Given the description of an element on the screen output the (x, y) to click on. 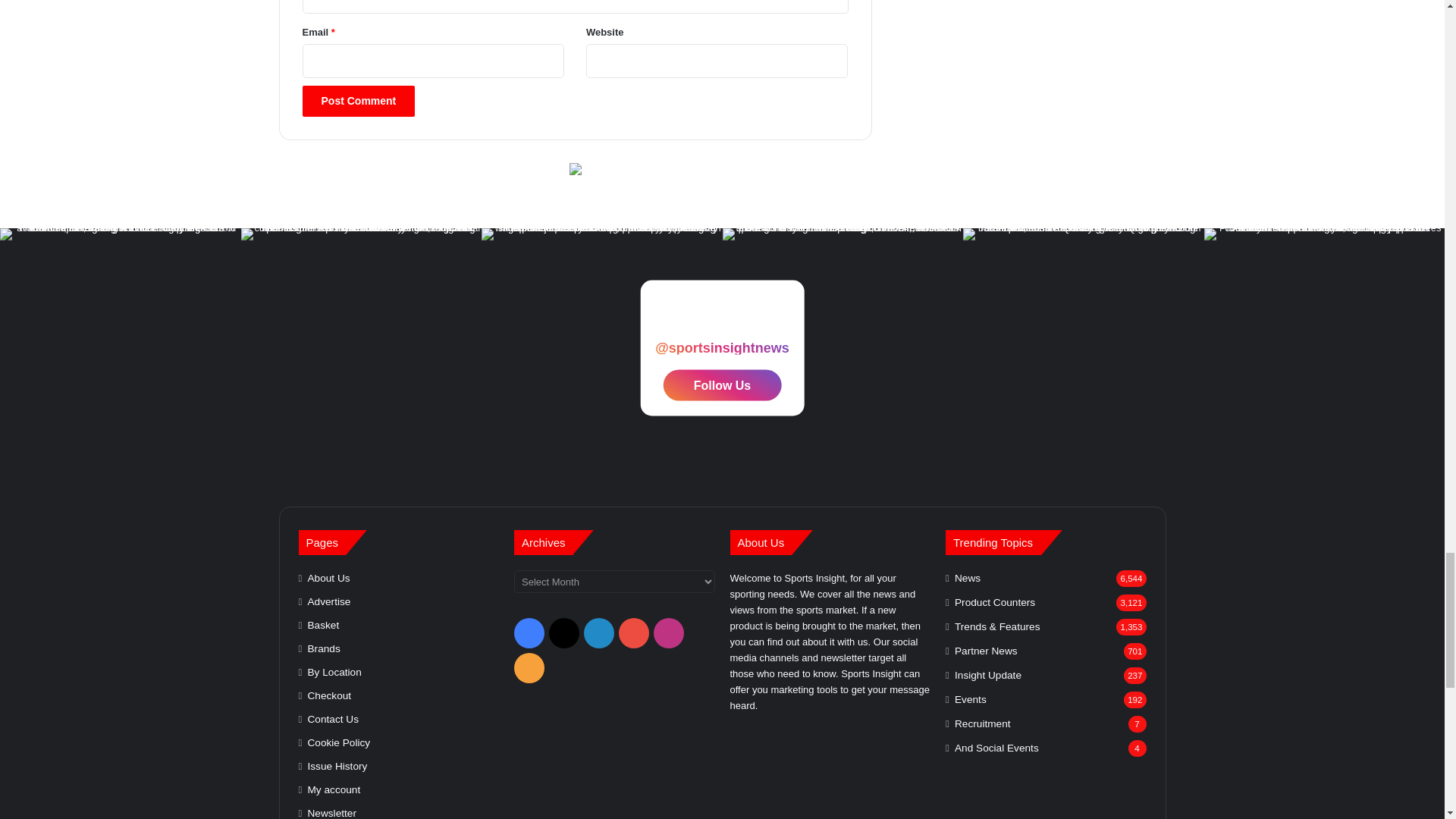
Post Comment (357, 101)
